Given the description of an element on the screen output the (x, y) to click on. 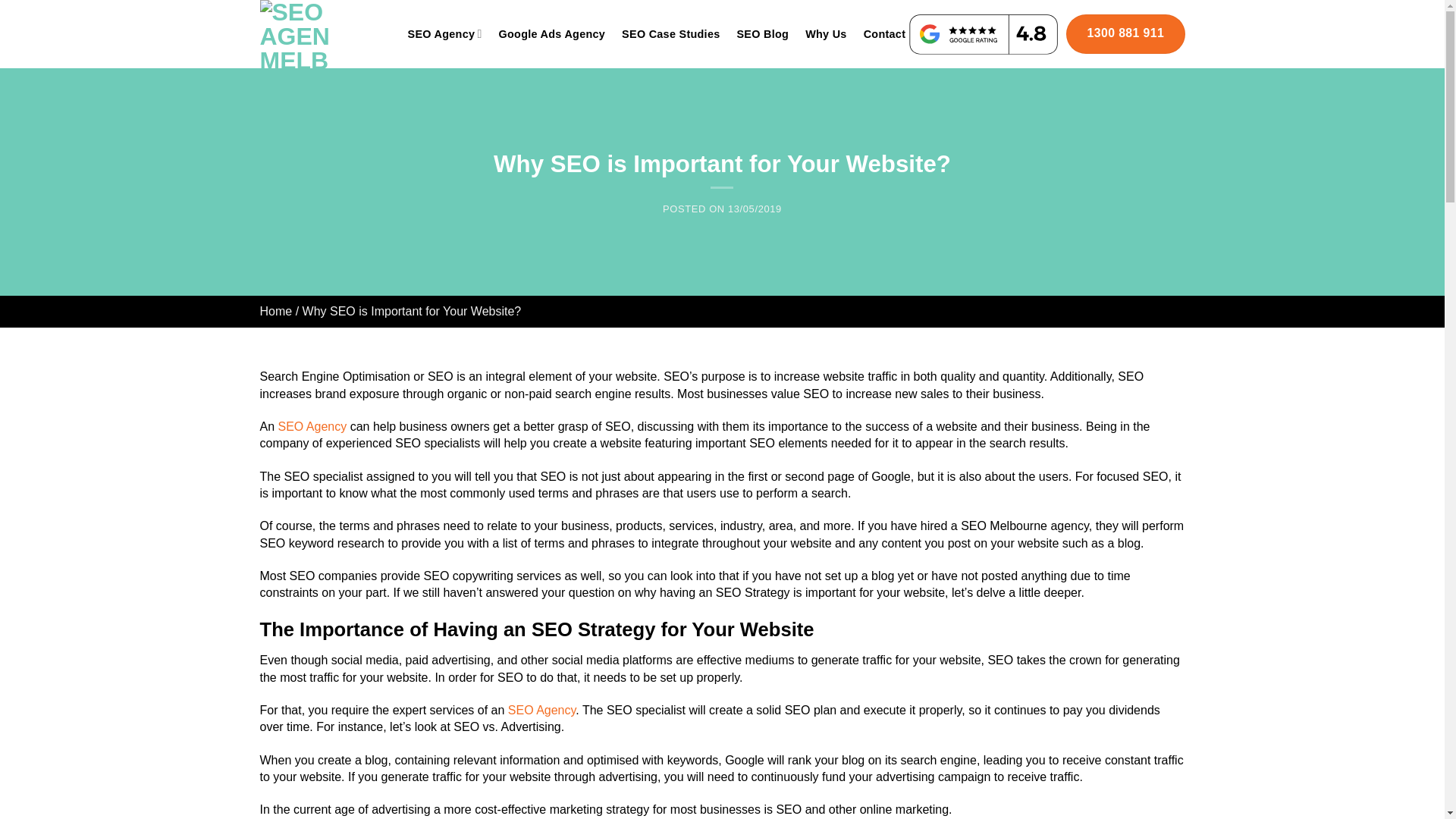
SEO Agency (312, 426)
Google Ads Agency (552, 33)
SEO Case Studies (670, 33)
SEO Case Studies (670, 33)
SEO Blog (762, 33)
Google Ads Agency (552, 33)
1300 881 911 (1125, 34)
Home (275, 310)
SEO Agency Melbourne (327, 33)
